Given the description of an element on the screen output the (x, y) to click on. 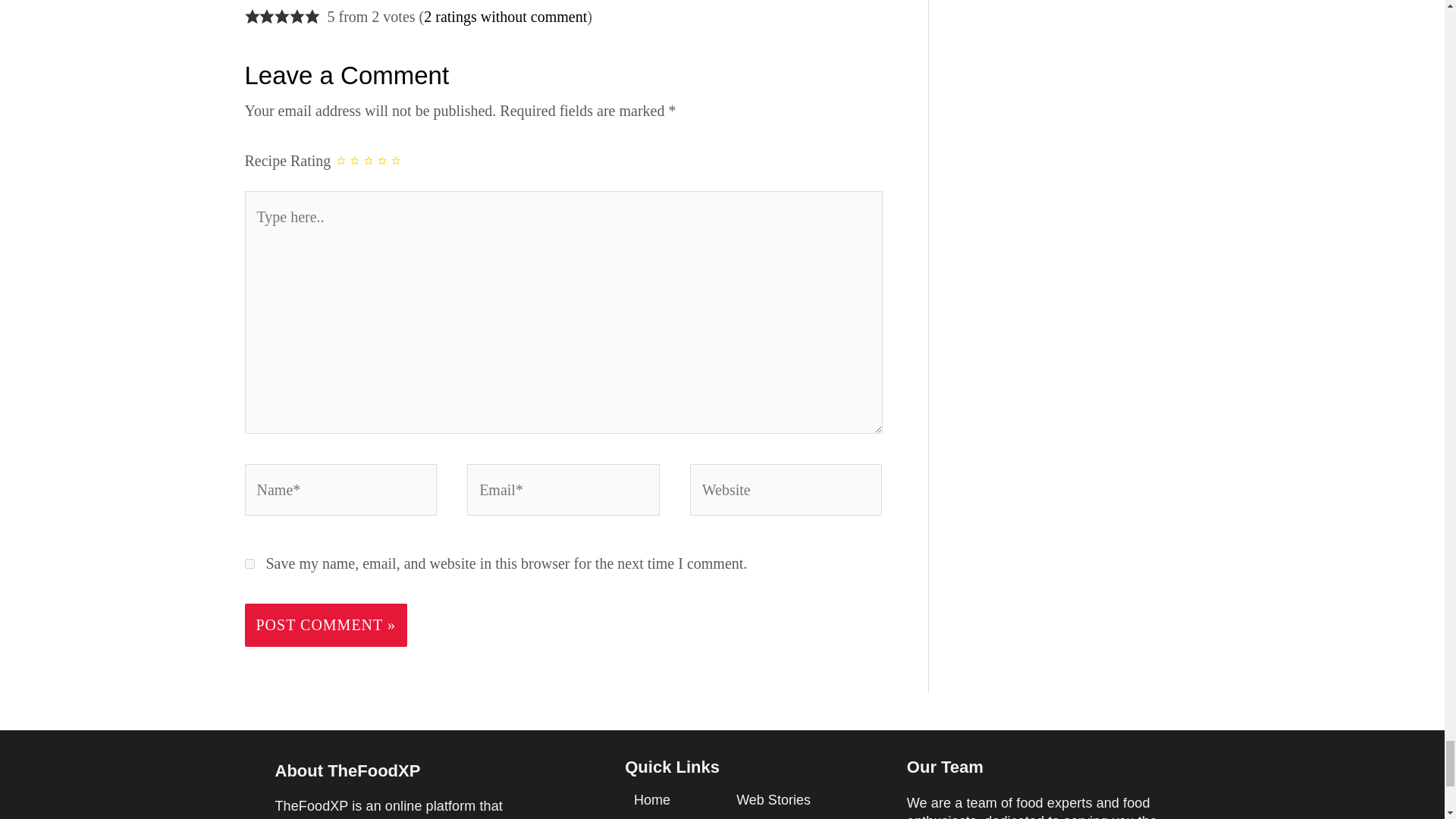
yes (248, 563)
